Given the description of an element on the screen output the (x, y) to click on. 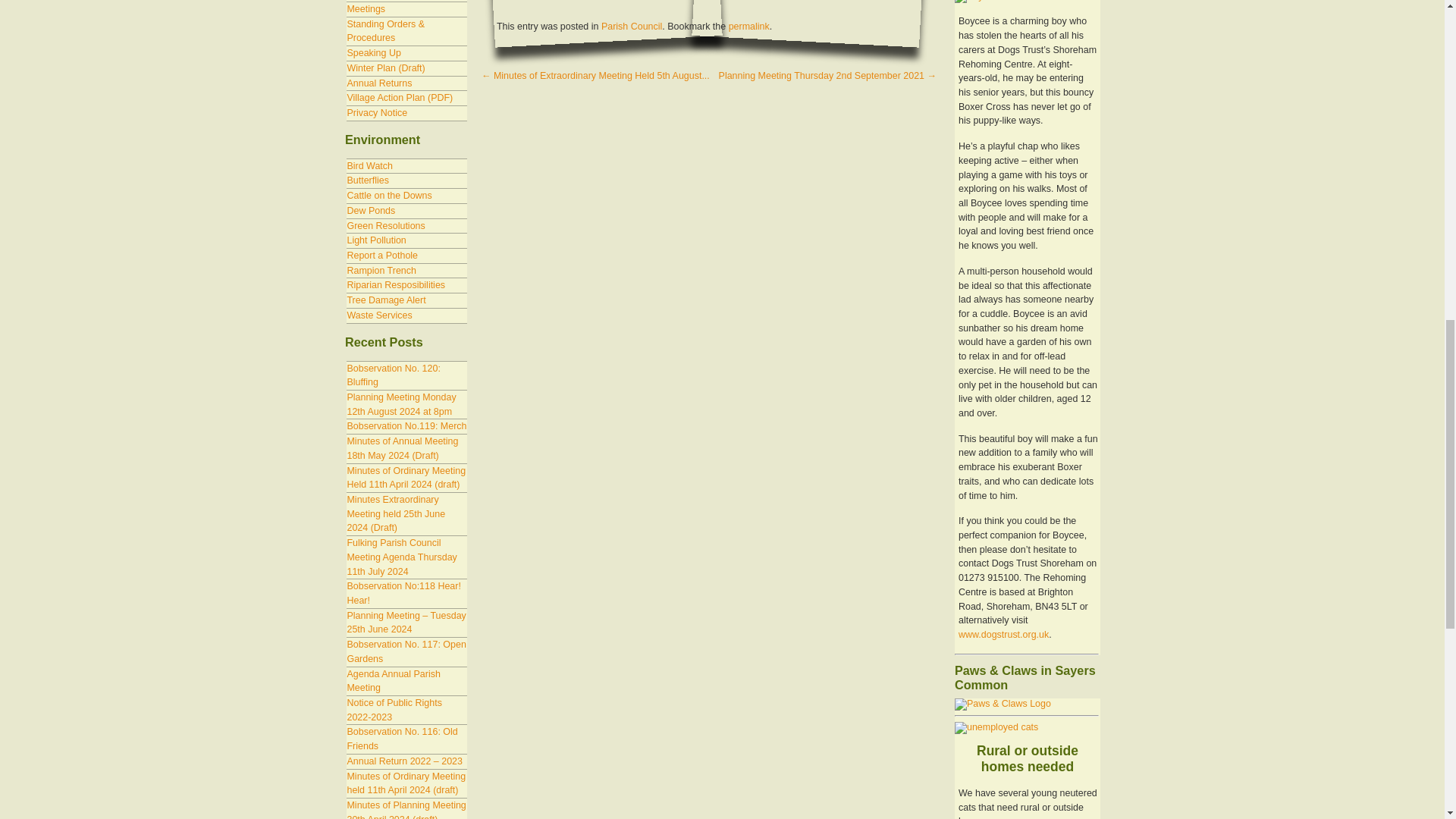
Annual Returns (379, 82)
Meetings (365, 9)
Speaking Up (373, 52)
